Given the description of an element on the screen output the (x, y) to click on. 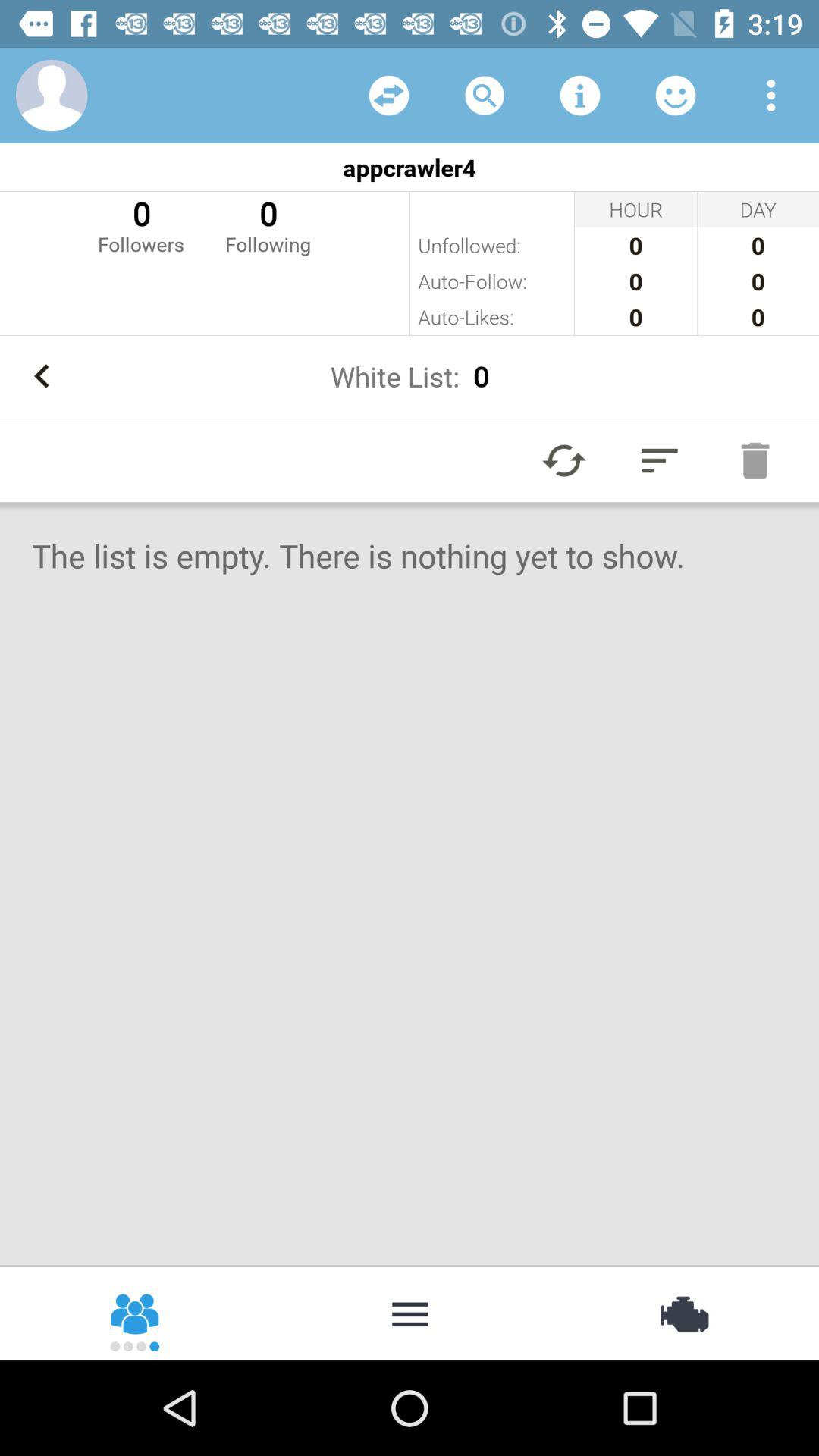
go to your account (51, 95)
